Given the description of an element on the screen output the (x, y) to click on. 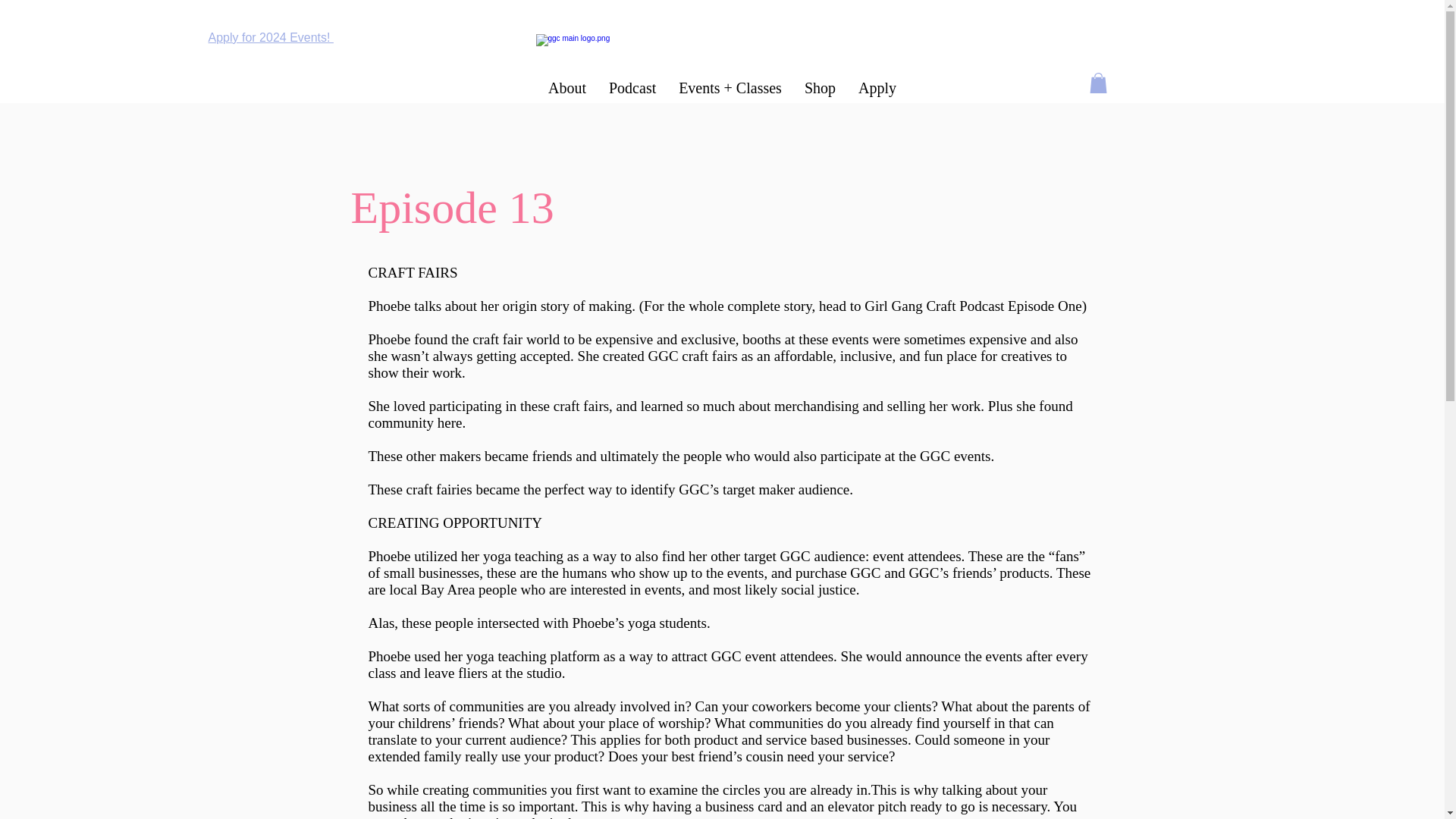
About (566, 87)
Podcast (631, 87)
Apply (877, 87)
Apply for 2024 Events!  (270, 37)
Shop (820, 87)
